Given the description of an element on the screen output the (x, y) to click on. 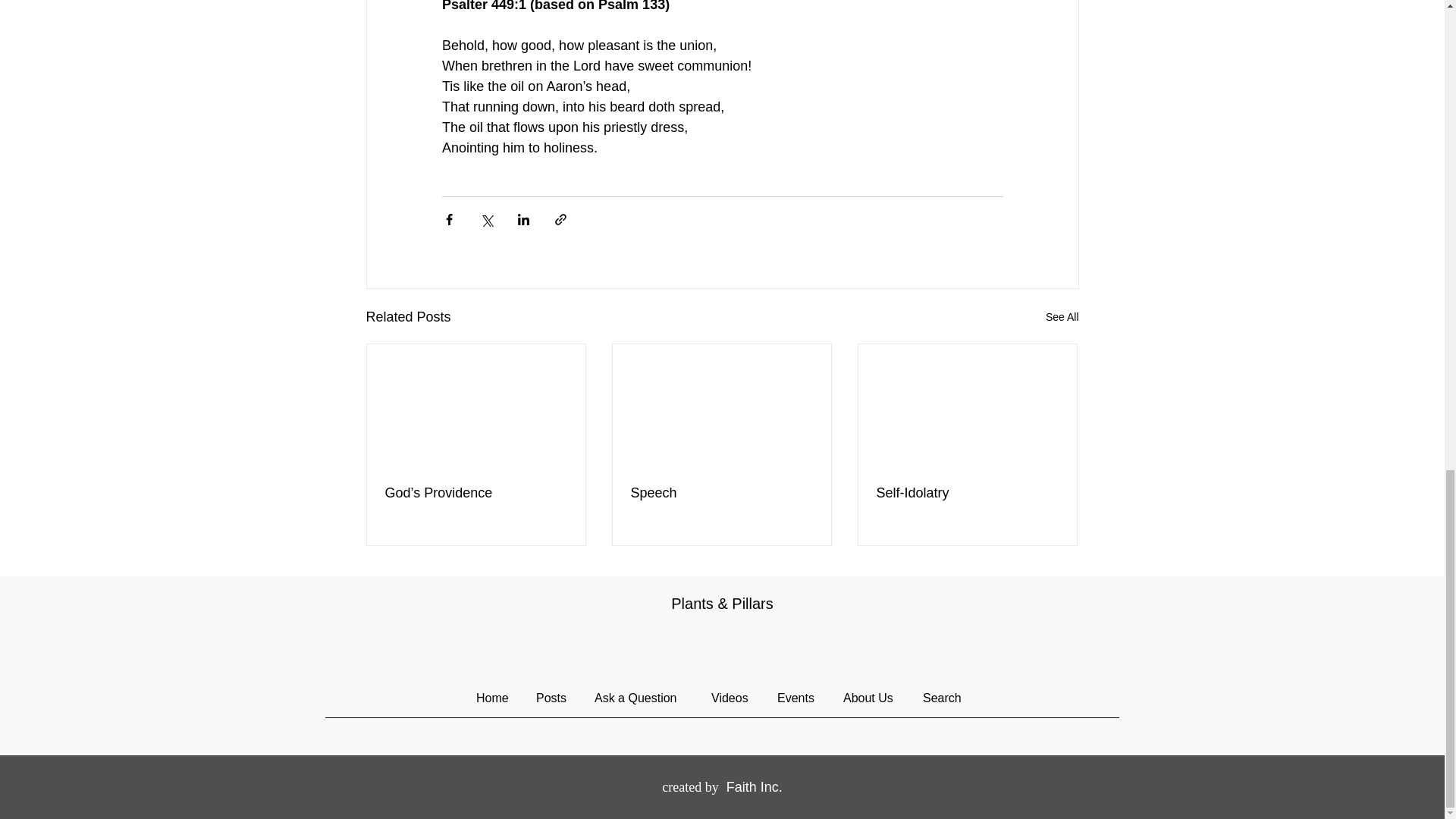
Self-Idolatry (967, 493)
Posts (553, 698)
See All (1061, 317)
Home (494, 698)
Speech (721, 493)
